Given the description of an element on the screen output the (x, y) to click on. 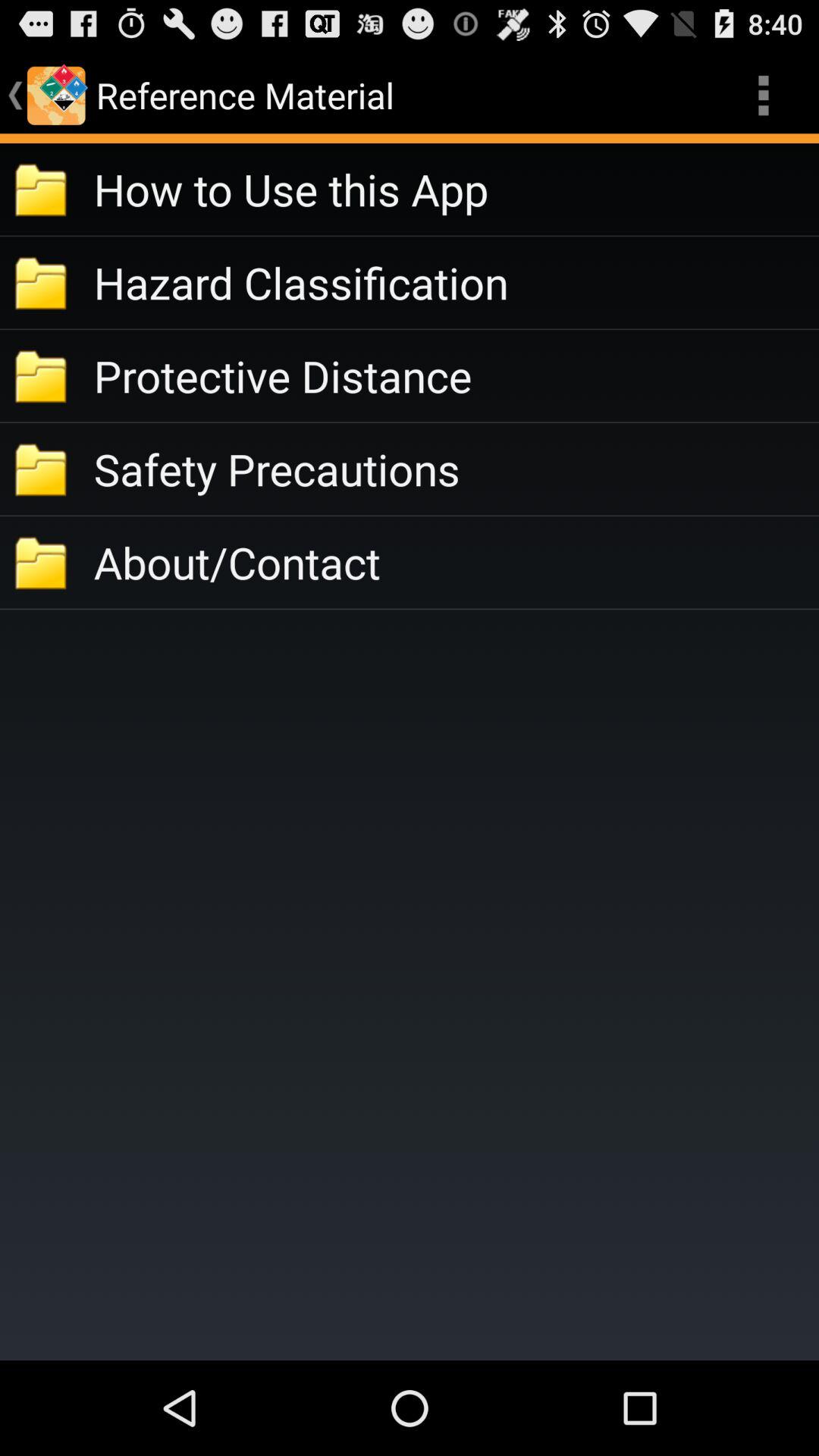
swipe to safety precautions item (456, 469)
